Given the description of an element on the screen output the (x, y) to click on. 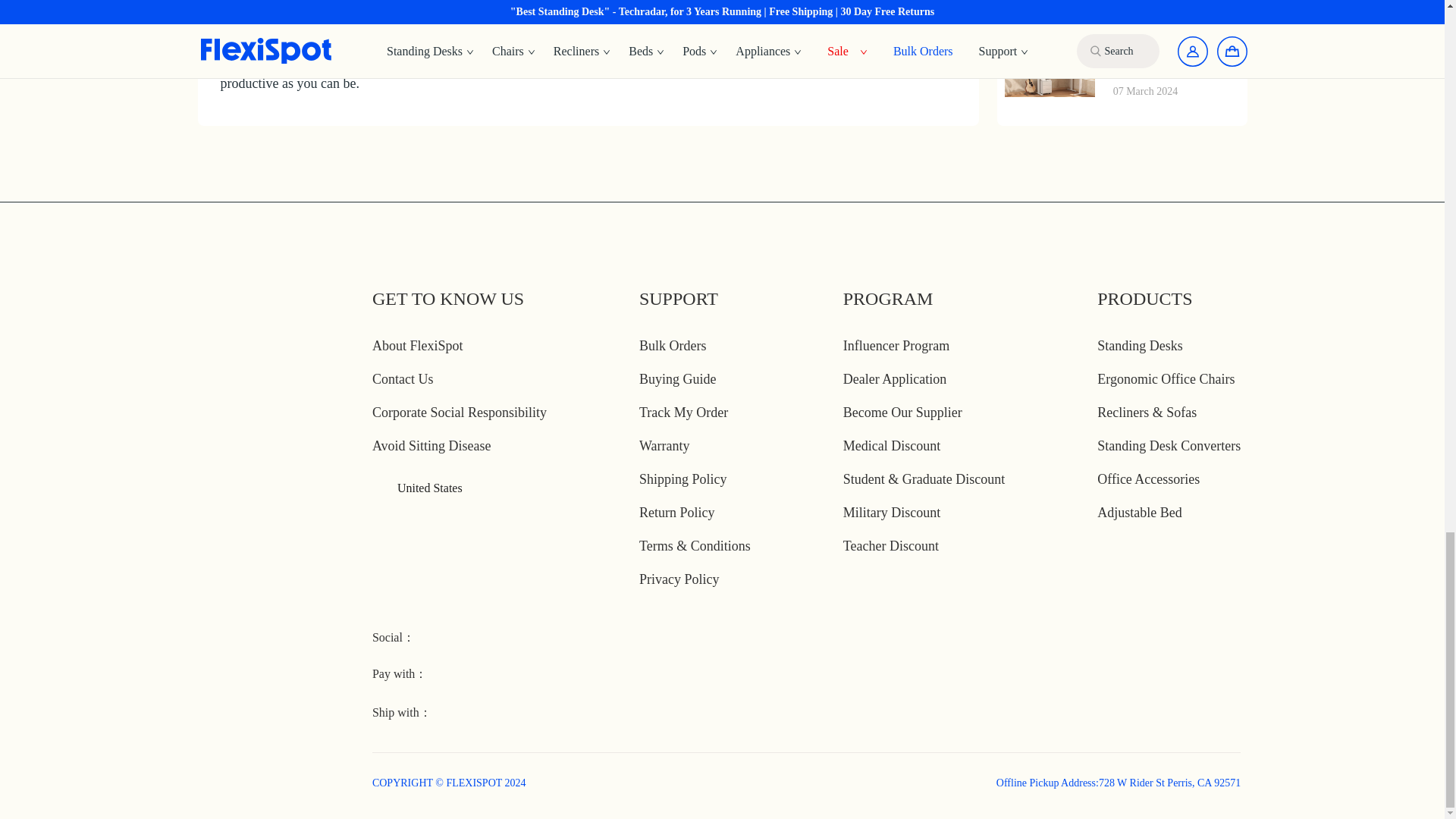
Bulk Orders (672, 345)
Buying Guide (677, 378)
Track My Order (683, 412)
Corporate Social Responsibility (459, 412)
About FlexiSpot (417, 345)
Shipping Policy (682, 478)
Contact Us (402, 378)
Warranty (664, 445)
Avoid Sitting Disease (432, 445)
